Given the description of an element on the screen output the (x, y) to click on. 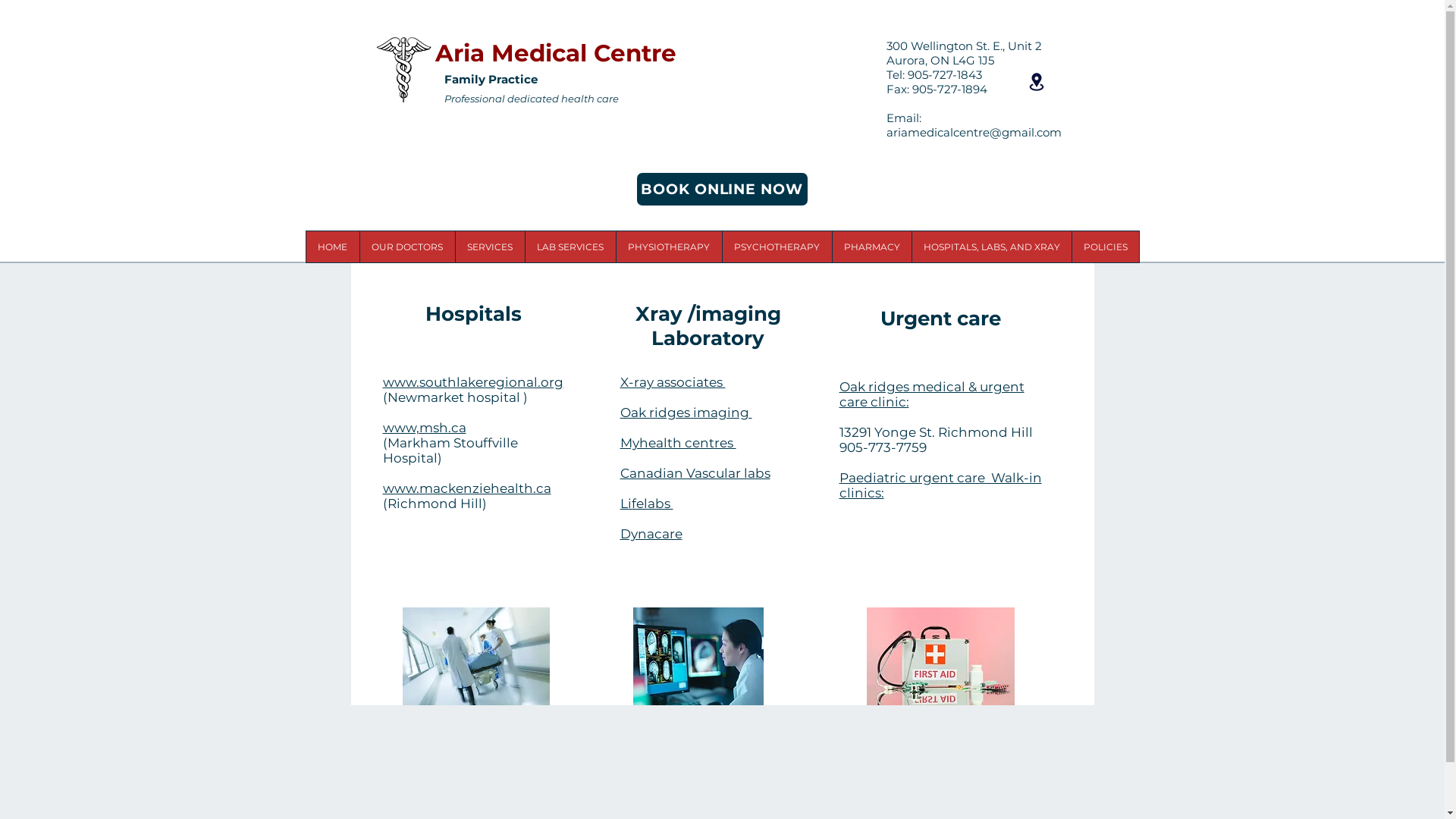
PHYSIOTHERAPY Element type: text (668, 246)
Dynacare Element type: text (651, 533)
HOME Element type: text (332, 246)
ariamedicalcentre@gmail.com Element type: text (972, 132)
LAB SERVICES Element type: text (569, 246)
HOSPITALS, LABS, AND XRAY Element type: text (991, 246)
www.southlakeregional.org Element type: text (472, 381)
Lifelabs  Element type: text (646, 503)
Myhealth centres  Element type: text (678, 442)
www,msh.ca Element type: text (423, 427)
OUR DOCTORS Element type: text (407, 246)
www.mackenziehealth.ca Element type: text (466, 487)
BOOK ONLINE NOW Element type: text (722, 188)
PSYCHOTHERAPY Element type: text (776, 246)
Oak ridges imaging  Element type: text (686, 412)
X-ray associates  Element type: text (672, 381)
Paediatric urgent care  Walk-in clinics: Element type: text (939, 485)
Canadian Vascular labs Element type: text (695, 472)
Oak ridges medical & urgent care clinic: Element type: text (930, 394)
PHARMACY Element type: text (870, 246)
POLICIES Element type: text (1104, 246)
